Given the description of an element on the screen output the (x, y) to click on. 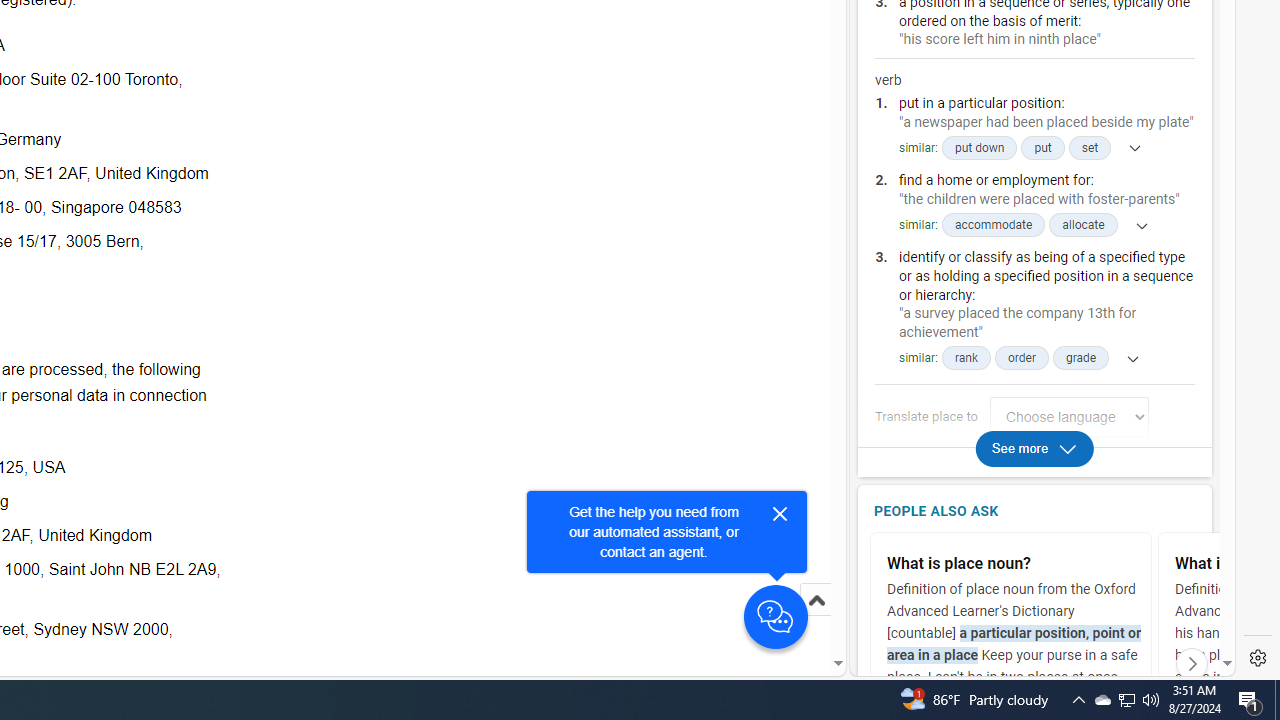
Scroll to top (816, 620)
set (1089, 148)
What is place noun? (1015, 564)
put (1042, 148)
Scroll to top (816, 599)
allocate (1083, 225)
order (1021, 358)
rank (965, 358)
put down (978, 148)
Translate place to Choose language (1069, 416)
